Given the description of an element on the screen output the (x, y) to click on. 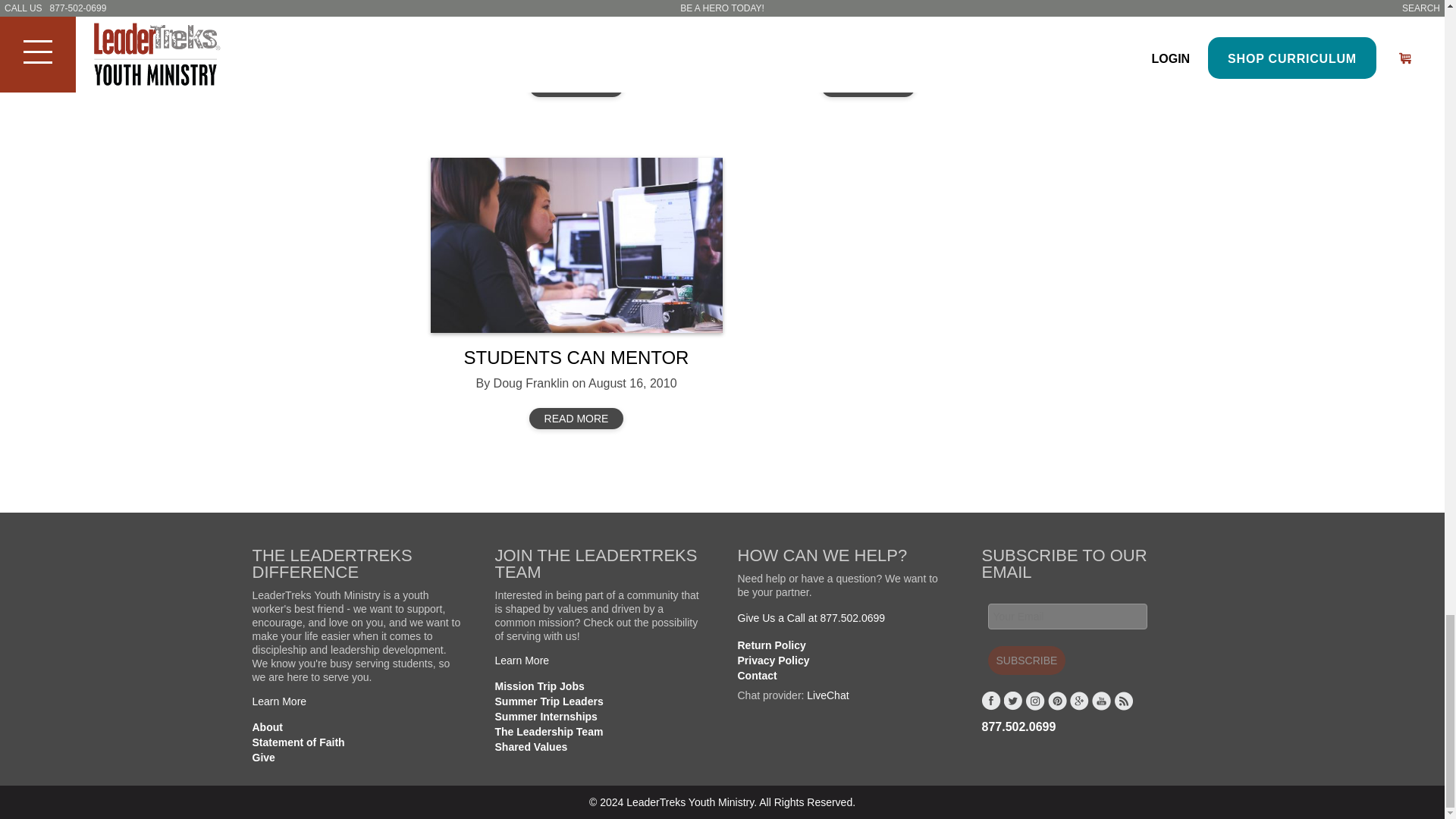
Students can Mentor (576, 245)
READ MORE (576, 86)
WHAT IS SPIRITUAL MATURITY? (576, 25)
